Given the description of an element on the screen output the (x, y) to click on. 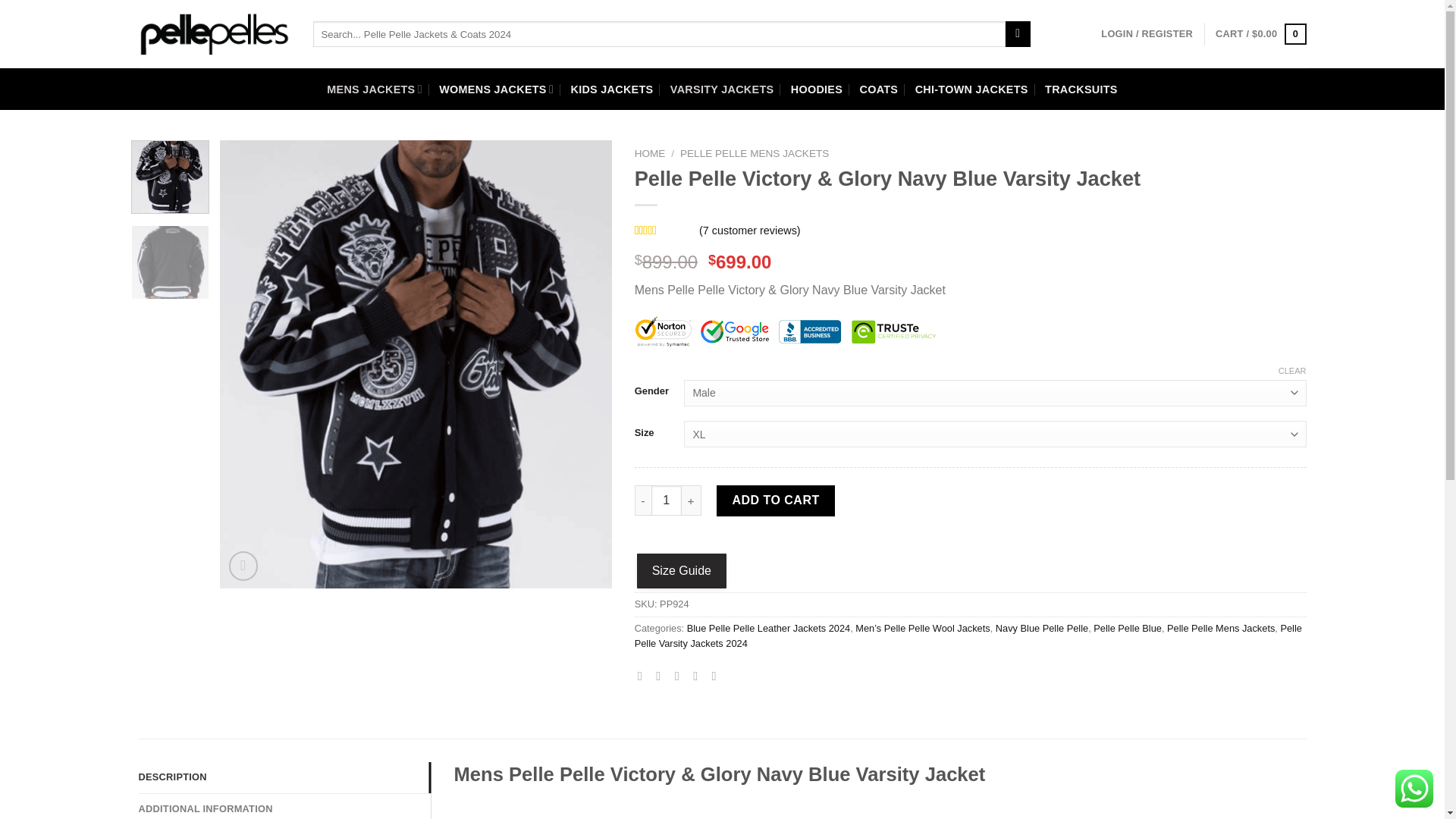
1 (665, 500)
COATS (879, 87)
Login (1146, 33)
KIDS JACKETS (611, 87)
Share on Twitter (662, 675)
VARSITY JACKETS (721, 87)
HOME (649, 153)
WOMENS JACKETS (496, 87)
CHI-TOWN JACKETS (971, 87)
Navy Blue Pelle Pelle (1041, 627)
Share on Facebook (643, 675)
CLEAR (1292, 370)
Search (1018, 33)
Zoom (243, 565)
PellePelle - Pelle Pelle (213, 34)
